Given the description of an element on the screen output the (x, y) to click on. 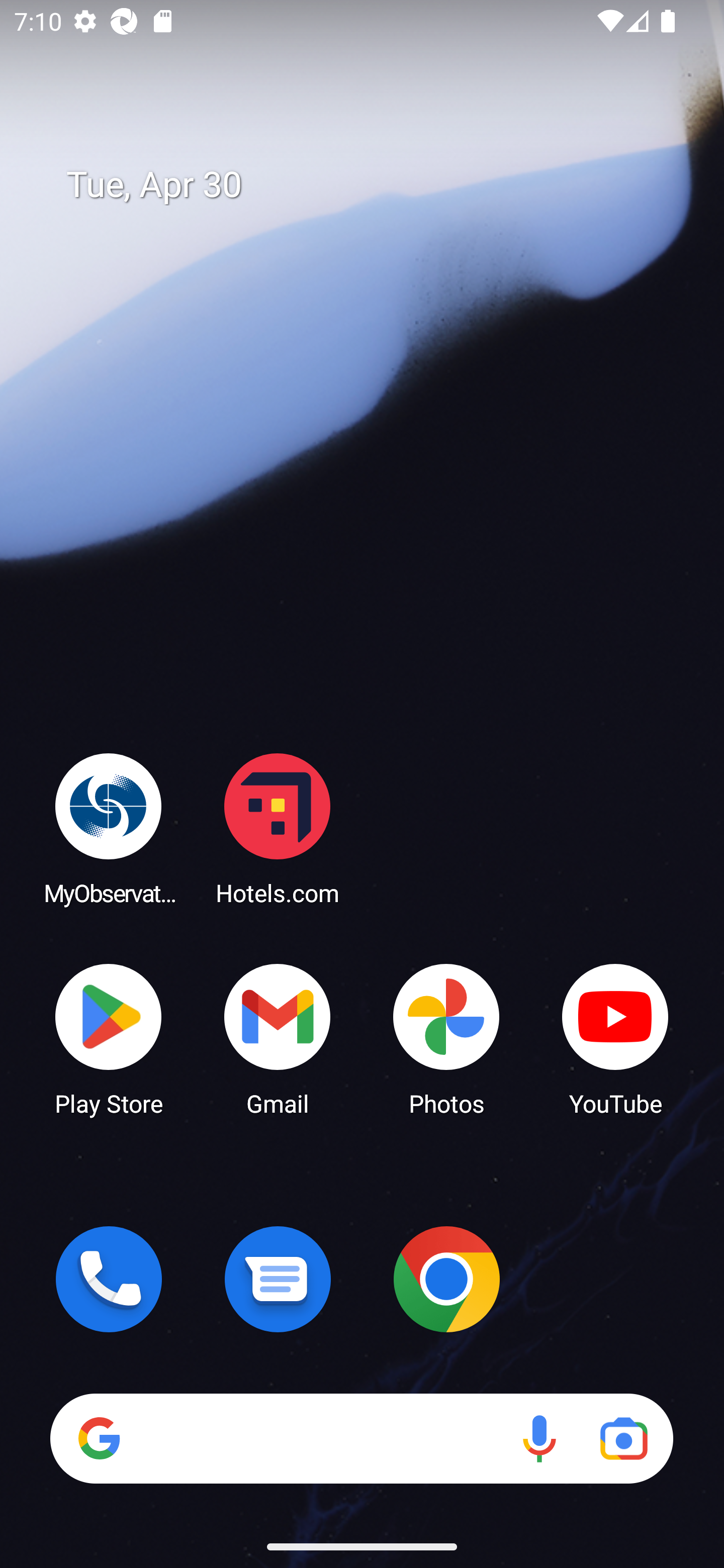
Tue, Apr 30 (375, 184)
MyObservatory (108, 828)
Hotels.com (277, 828)
Play Store (108, 1038)
Gmail (277, 1038)
Photos (445, 1038)
YouTube (615, 1038)
Phone (108, 1279)
Messages (277, 1279)
Chrome (446, 1279)
Voice search (539, 1438)
Google Lens (623, 1438)
